Given the description of an element on the screen output the (x, y) to click on. 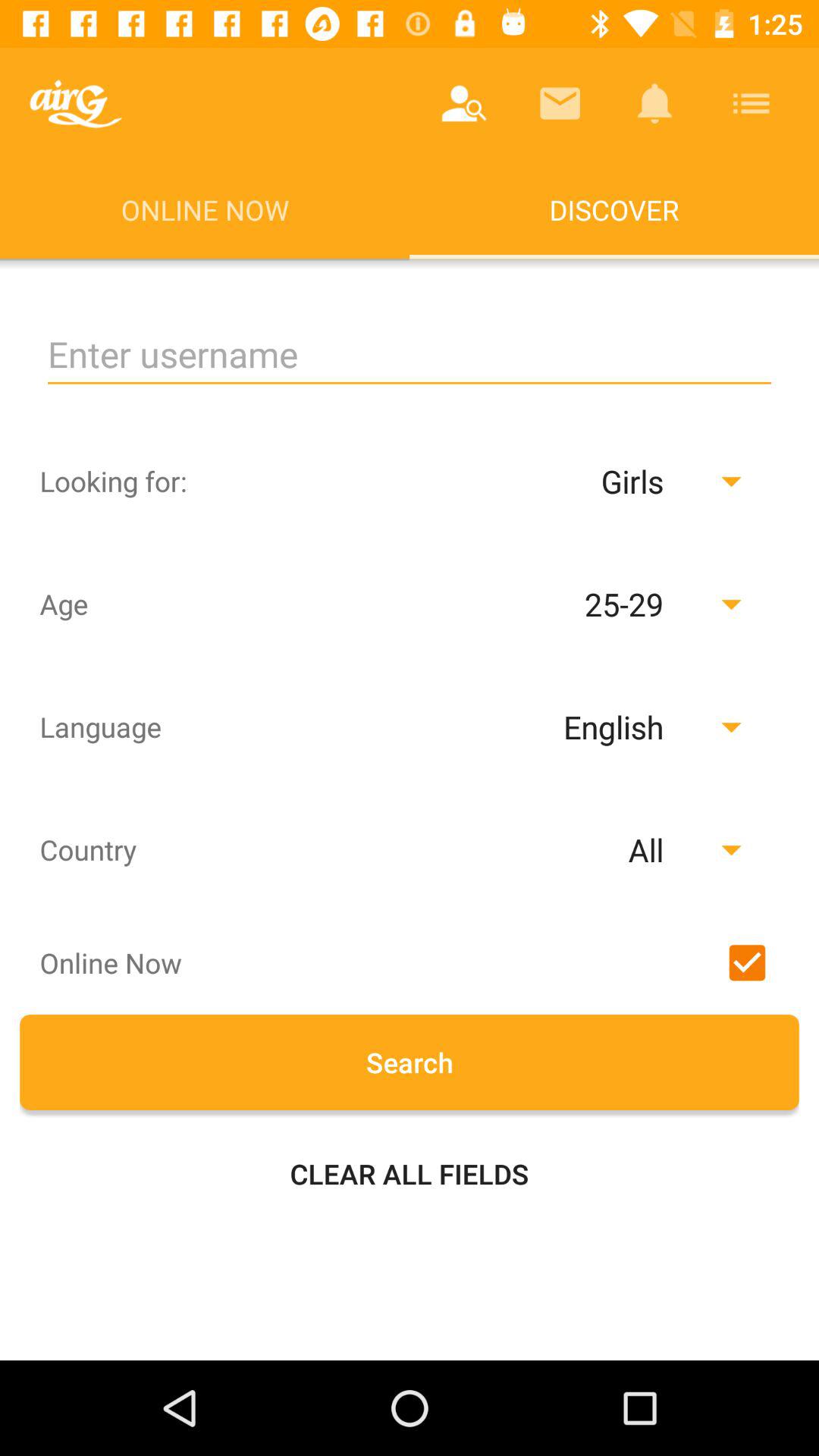
choose the app above online now (464, 103)
